Given the description of an element on the screen output the (x, y) to click on. 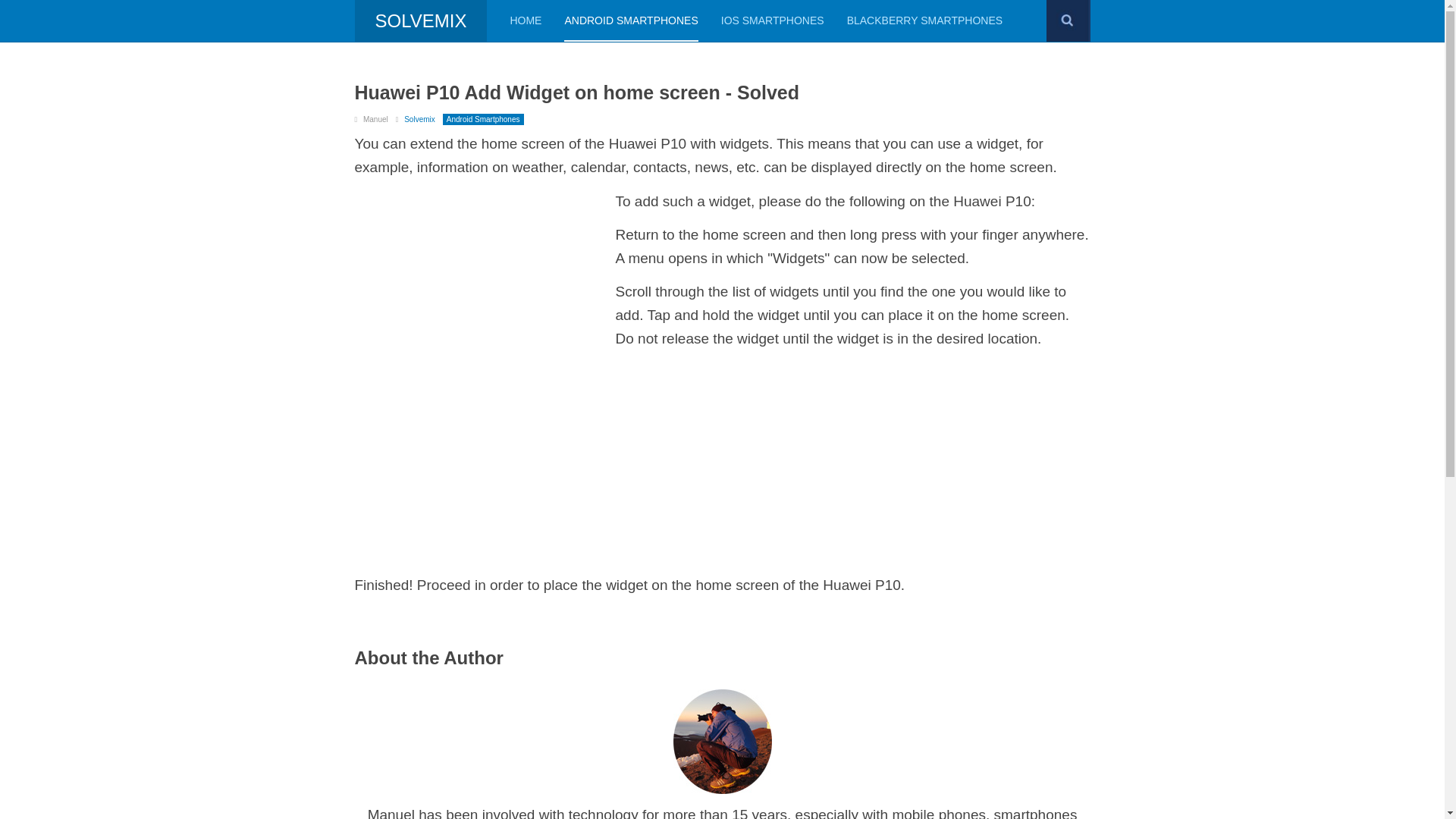
Android Smartphones (483, 119)
IOS SMARTPHONES (772, 20)
ANDROID SMARTPHONES (630, 20)
Advertisement (482, 296)
Solvemix (419, 119)
SOLVEMIX (421, 20)
BLACKBERRY SMARTPHONES (925, 20)
Solvemix (421, 20)
